Given the description of an element on the screen output the (x, y) to click on. 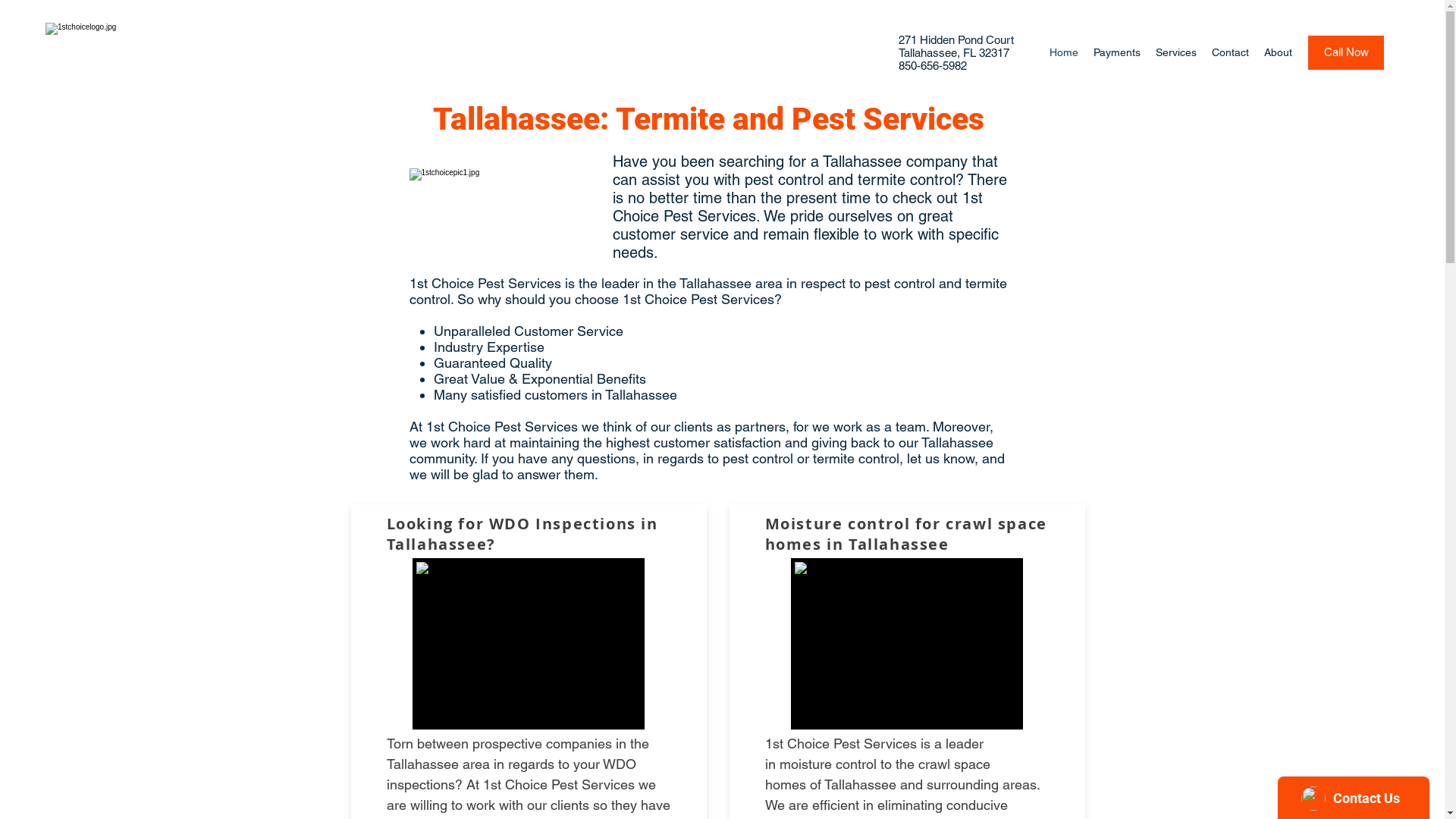
Contact Element type: text (1230, 51)
About Element type: text (1277, 51)
Payments Element type: text (1116, 51)
Call Now Element type: text (1345, 52)
Home Element type: text (1063, 51)
Services Element type: text (1176, 51)
